Given the description of an element on the screen output the (x, y) to click on. 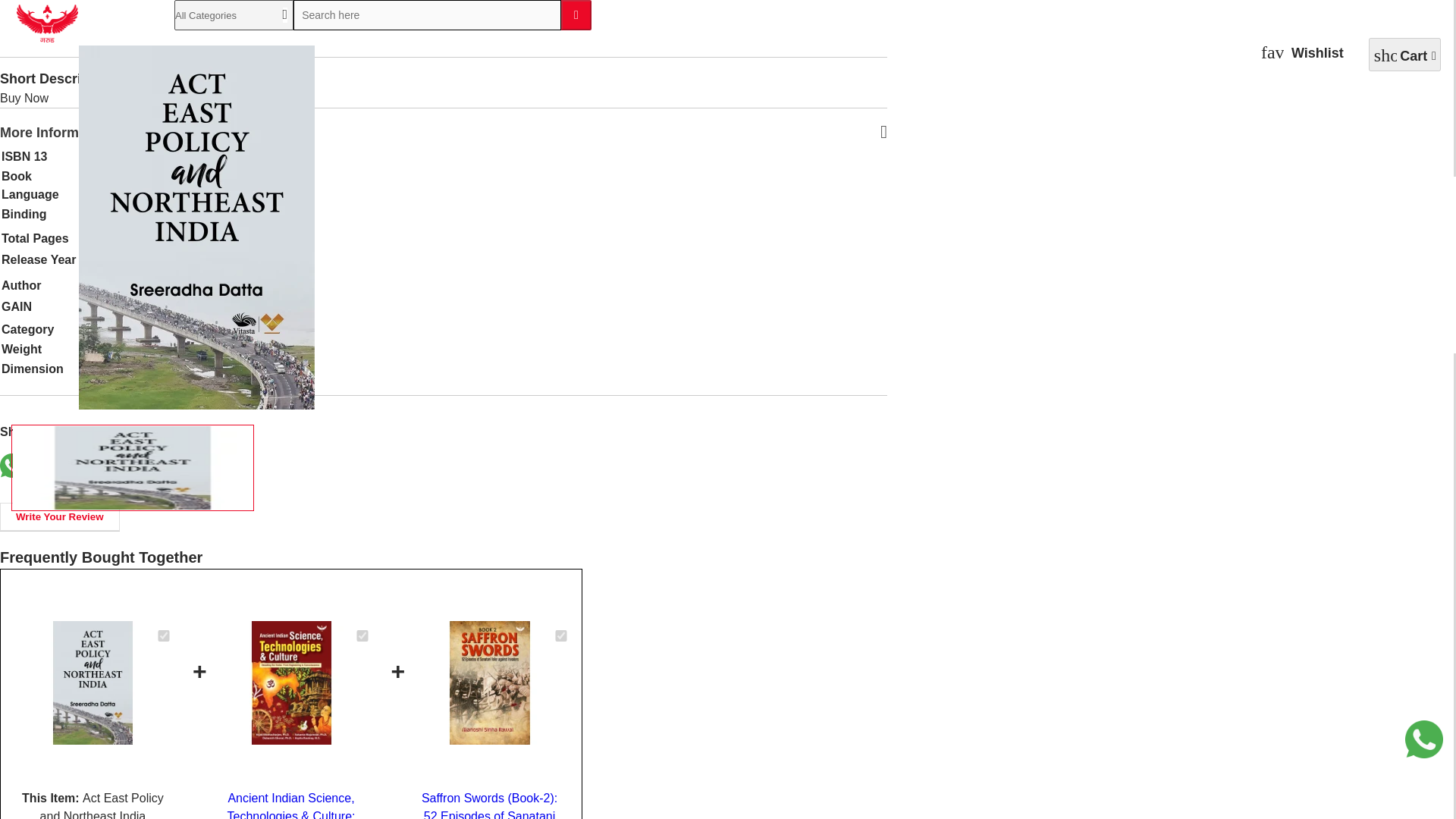
on (560, 635)
Pinterest (121, 465)
WhatsApp (12, 465)
on (163, 635)
Facebook (48, 465)
on (362, 635)
Email (157, 465)
